Given the description of an element on the screen output the (x, y) to click on. 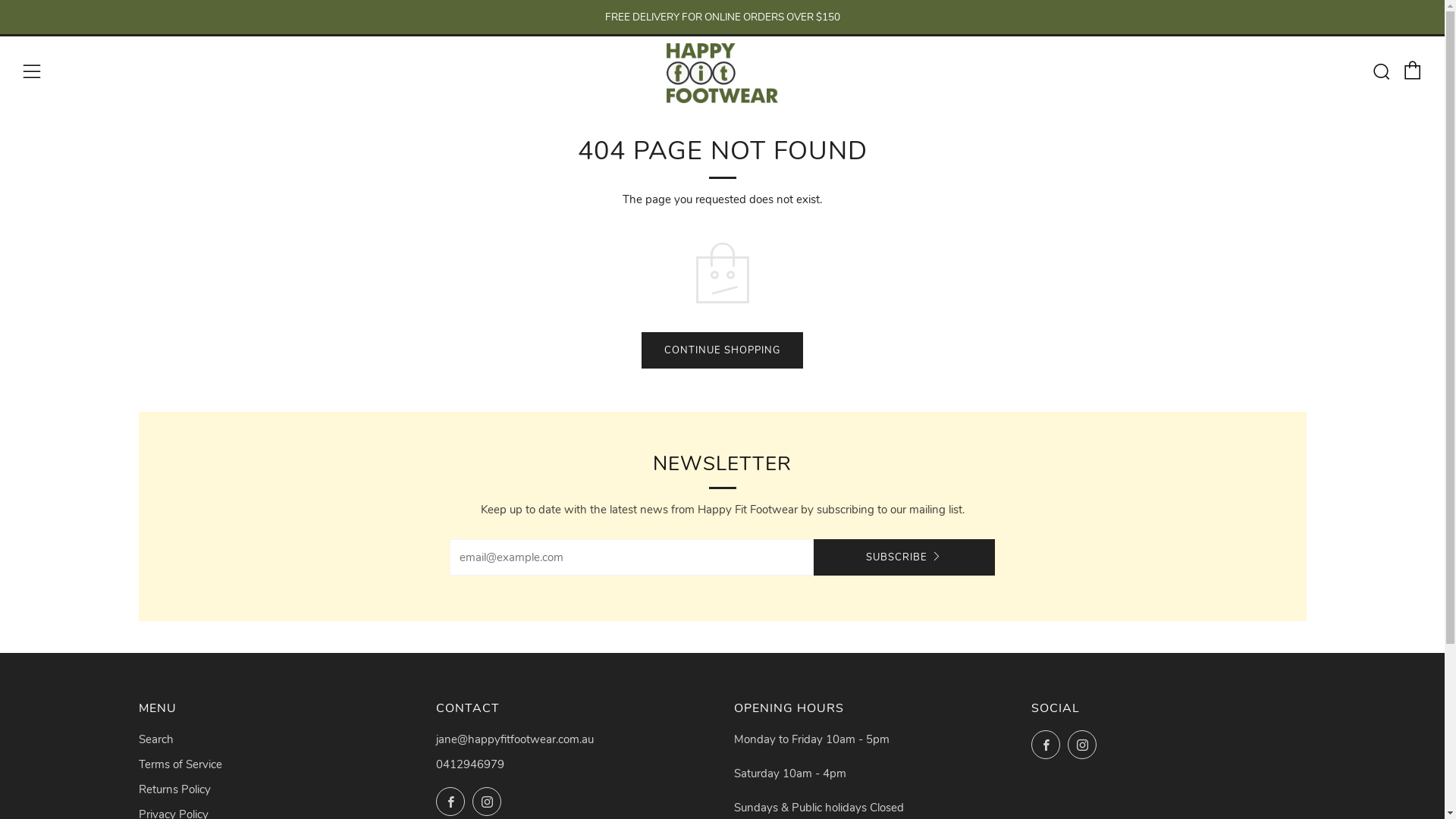
Facebook Element type: text (450, 801)
Instagram Element type: text (486, 801)
Menu Element type: text (31, 71)
Terms of Service Element type: text (179, 763)
Facebook Element type: text (1045, 744)
Search Element type: text (155, 738)
Cart Element type: text (1412, 70)
Returns Policy Element type: text (174, 789)
SUBSCRIBE Element type: text (903, 557)
Instagram Element type: text (1081, 744)
Search Element type: text (1380, 71)
0412946979 Element type: text (470, 763)
jane@happyfitfootwear.com.au Element type: text (514, 738)
CONTINUE SHOPPING Element type: text (722, 350)
